Given the description of an element on the screen output the (x, y) to click on. 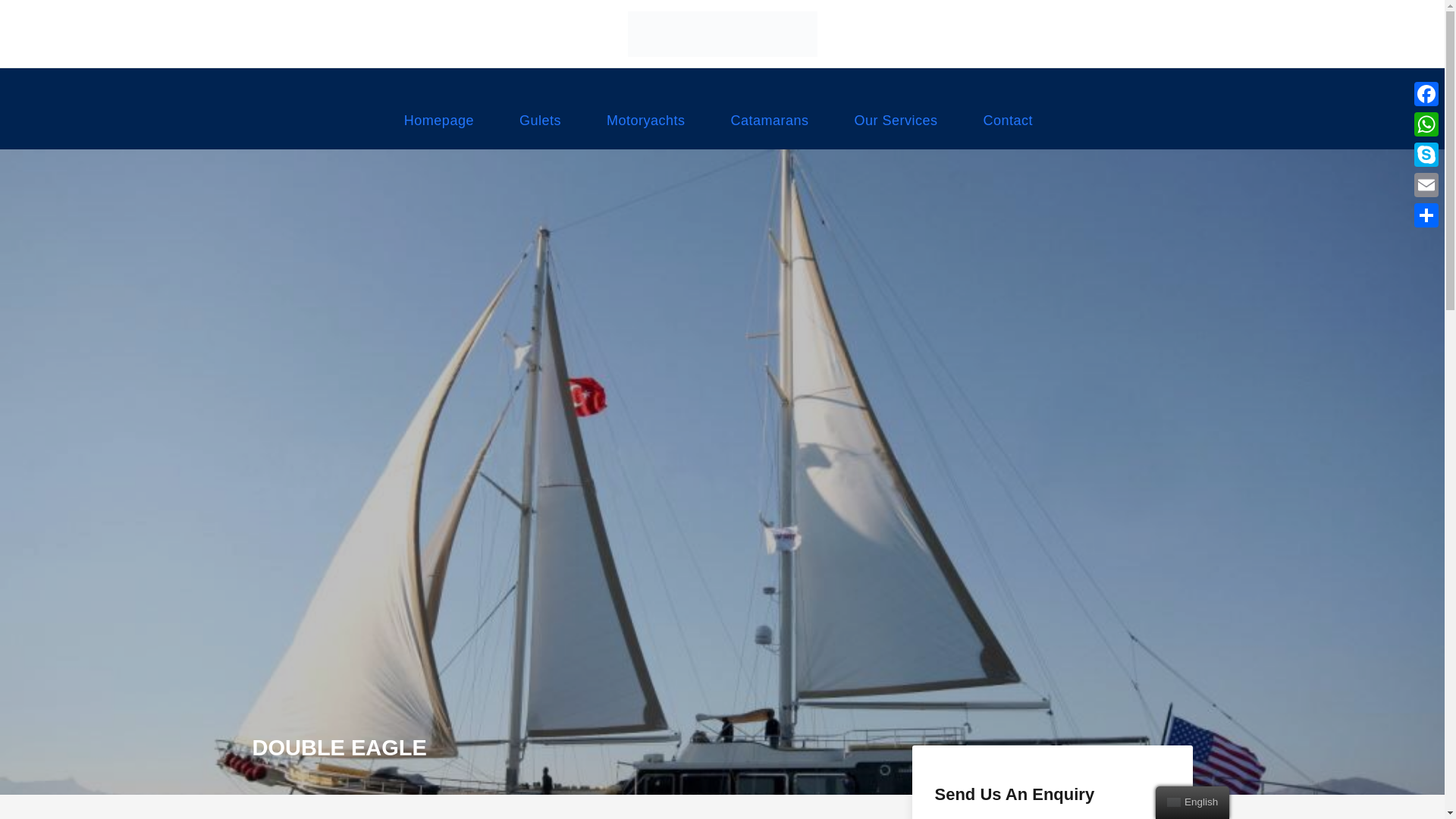
English (1173, 801)
Gulets (539, 128)
Catamarans (769, 128)
Email (1425, 184)
Skype (1425, 154)
LOGO-ADA (721, 33)
Homepage (439, 128)
Our Services (895, 128)
Facebook (1425, 93)
Motoryachts (646, 128)
